Given the description of an element on the screen output the (x, y) to click on. 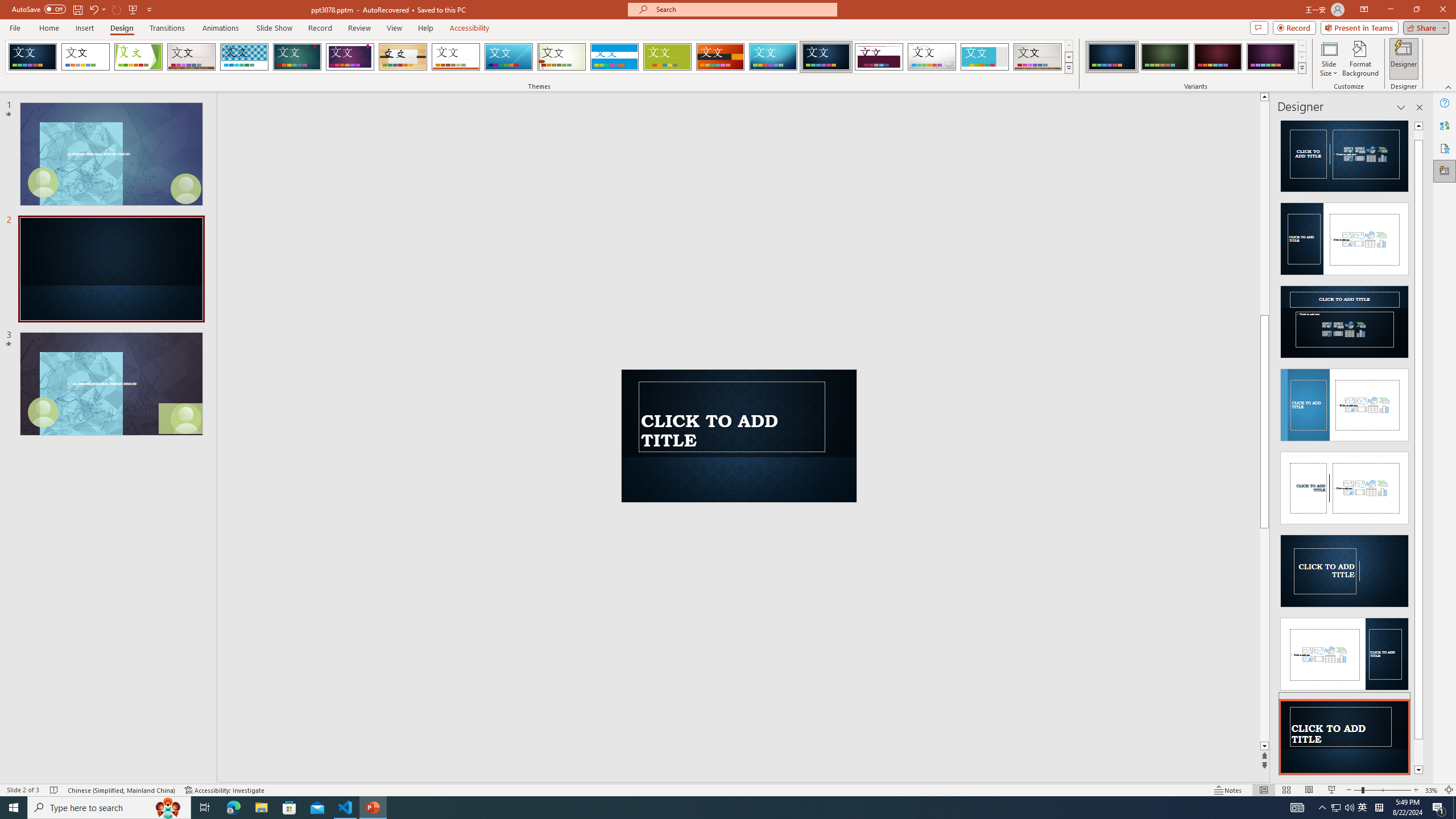
Office Theme (85, 56)
Droplet (931, 56)
Berlin (720, 56)
